Given the description of an element on the screen output the (x, y) to click on. 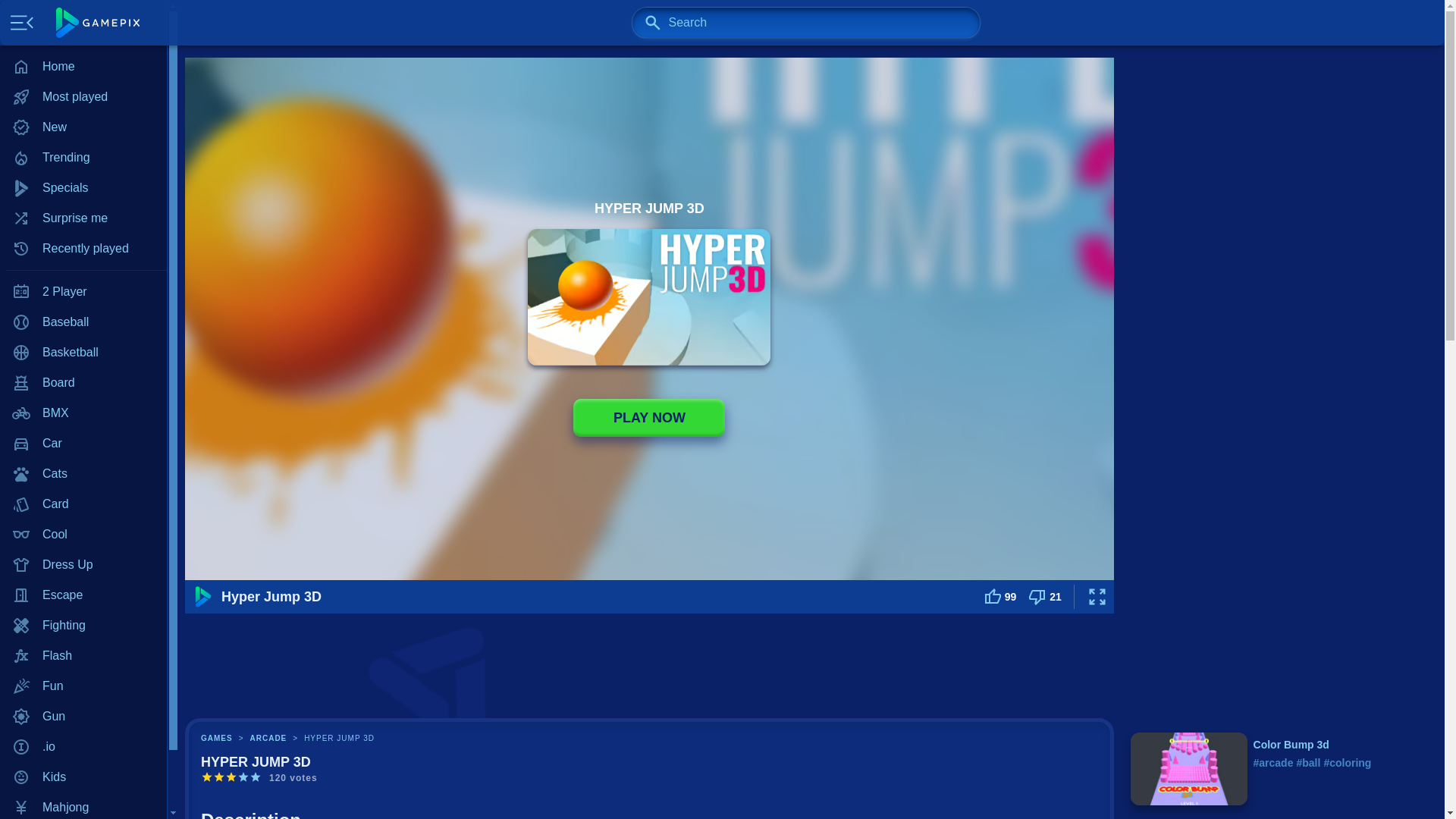
Basketball (83, 352)
.io (83, 747)
Cats (83, 473)
Flash (83, 655)
Cool (83, 534)
New (83, 127)
Specials (83, 187)
Mahjong (83, 805)
Fighting (83, 625)
gamepix.com (97, 22)
Fighting (83, 625)
2 Player (83, 291)
Basketball (83, 352)
Kids (83, 777)
Board (83, 382)
